Given the description of an element on the screen output the (x, y) to click on. 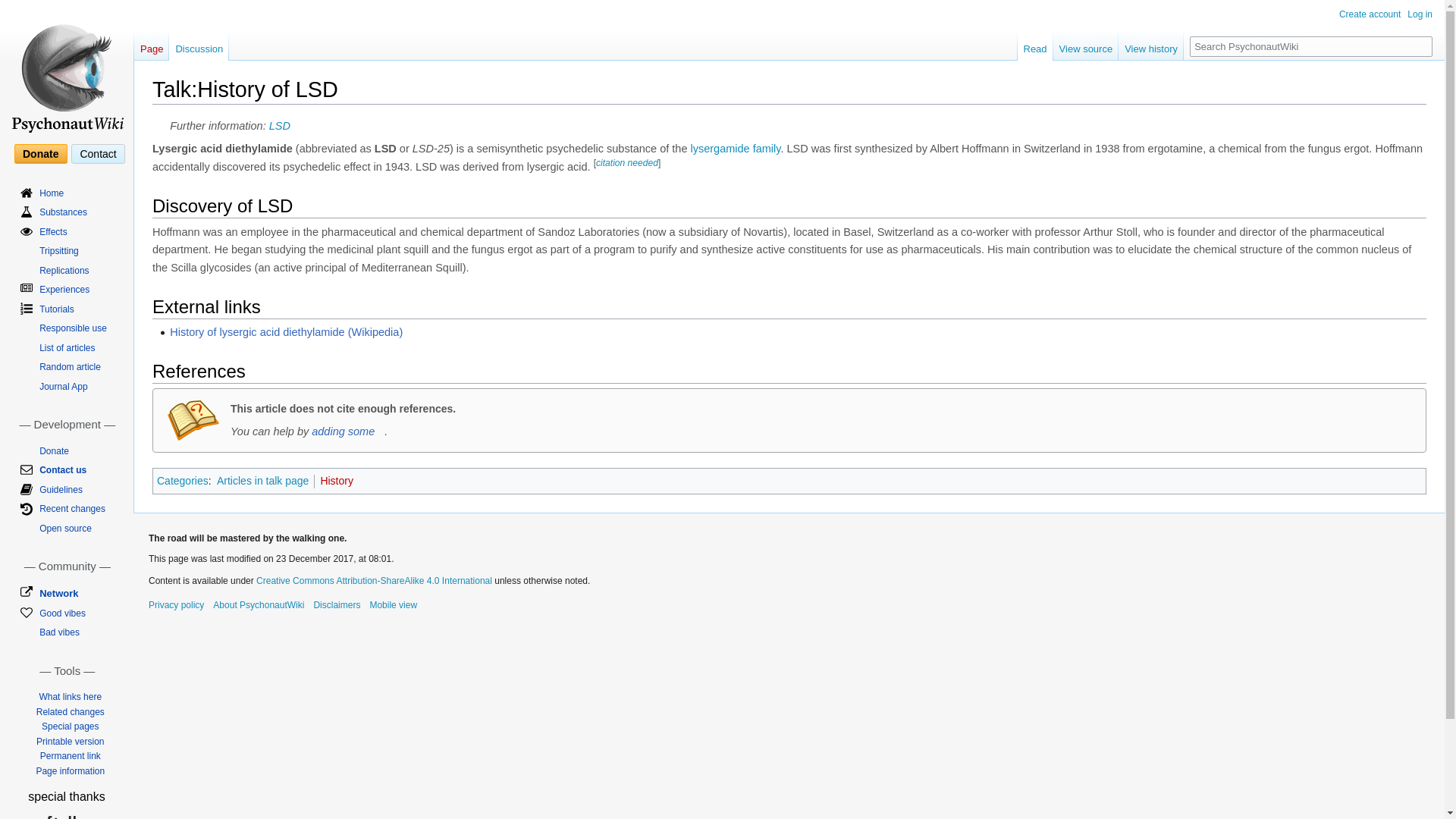
Category:Lysergamide (735, 148)
Donate (39, 153)
Go (1422, 46)
Replications (63, 270)
Read (1034, 45)
Page (150, 45)
Citation needed (626, 163)
Responsible use (72, 327)
Tripsitting (58, 250)
LSD (279, 125)
